Given the description of an element on the screen output the (x, y) to click on. 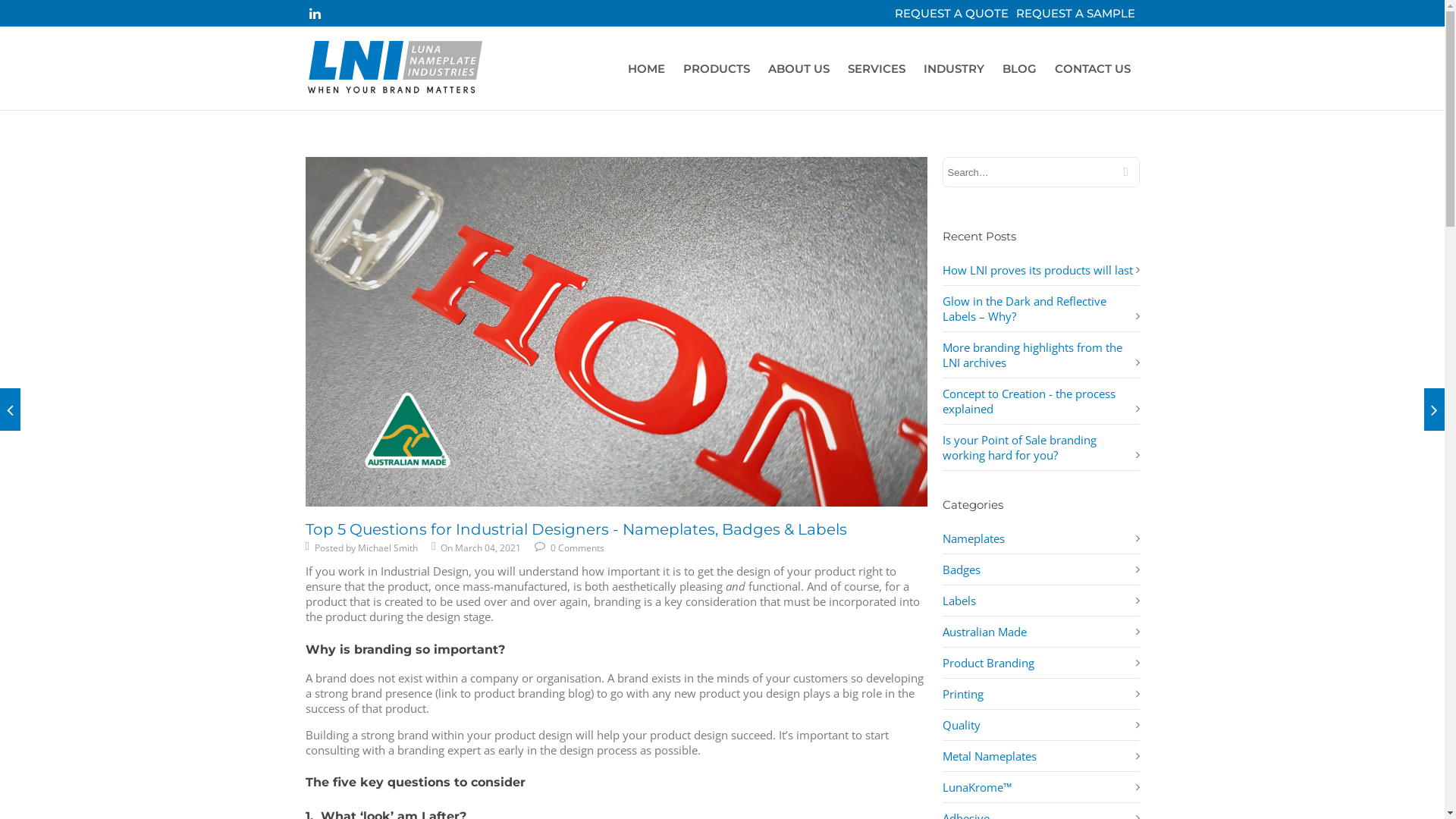
Quality Element type: text (960, 724)
BLOG Element type: text (1019, 68)
How LNI proves its products will last Element type: text (1036, 269)
Michael Smith Element type: text (387, 547)
Concept to Creation - the process explained Element type: text (1027, 400)
ABOUT US Element type: text (797, 68)
SERVICES Element type: text (876, 68)
INDUSTRY Element type: text (953, 68)
PRODUCTS Element type: text (715, 68)
Is your Point of Sale branding working hard for you? Element type: text (1018, 447)
Nameplates Element type: text (972, 538)
Labels Element type: text (958, 600)
REQUEST A SAMPLE Element type: text (1075, 13)
Product Branding Element type: text (987, 662)
HOME Element type: text (646, 68)
More branding highlights from the LNI archives Element type: text (1031, 354)
Australian Made Element type: text (983, 631)
Metal Nameplates Element type: text (988, 755)
Badges Element type: text (960, 569)
Printing Element type: text (961, 693)
CONTACT US Element type: text (1091, 68)
REQUEST A QUOTE Element type: text (951, 13)
